Given the description of an element on the screen output the (x, y) to click on. 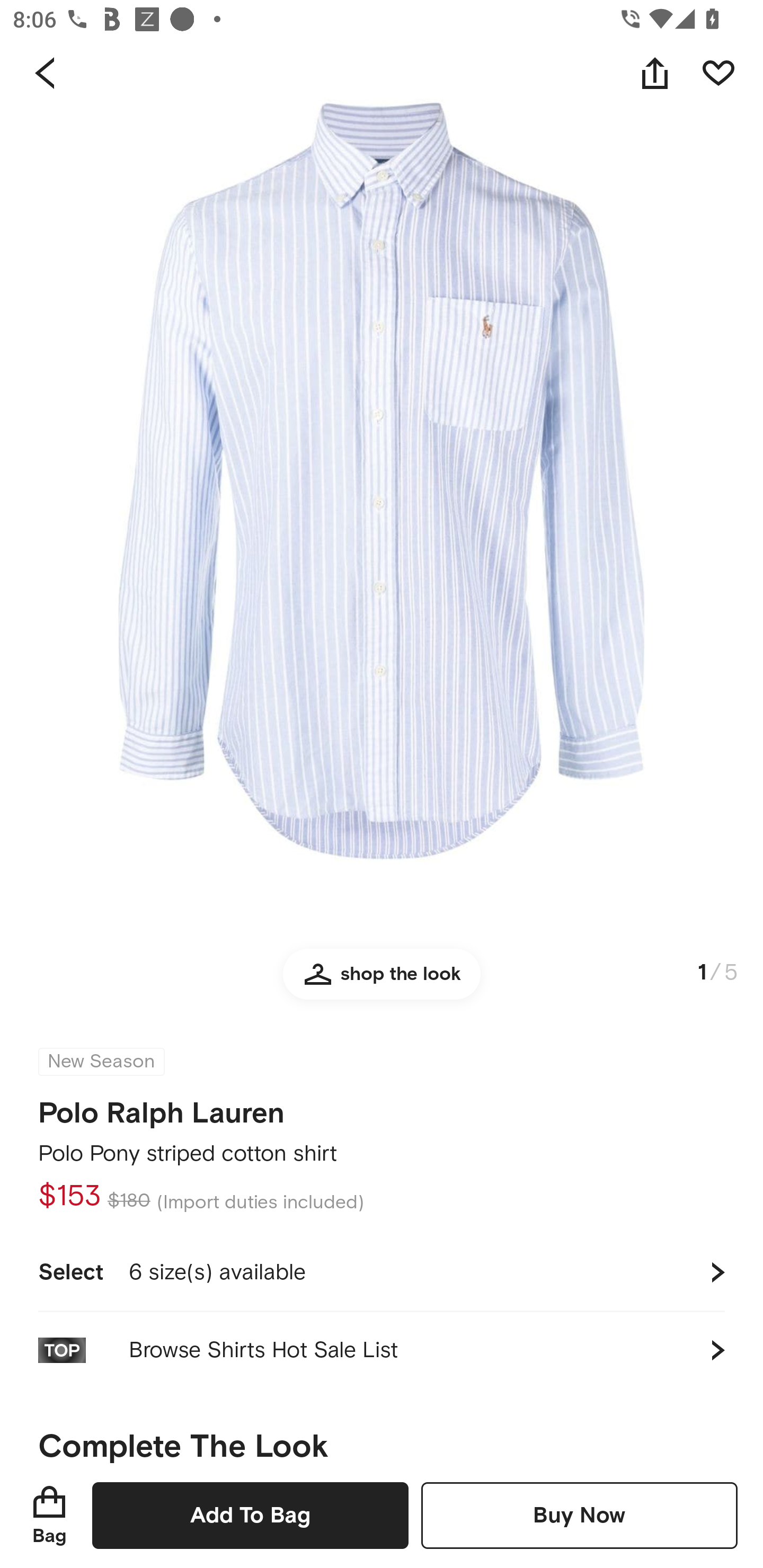
shop the look (381, 982)
Polo Ralph Lauren (161, 1107)
Select 6 size(s) available (381, 1272)
Browse Shirts Hot Sale List (381, 1349)
Bag (49, 1515)
Add To Bag (250, 1515)
Buy Now (579, 1515)
